Given the description of an element on the screen output the (x, y) to click on. 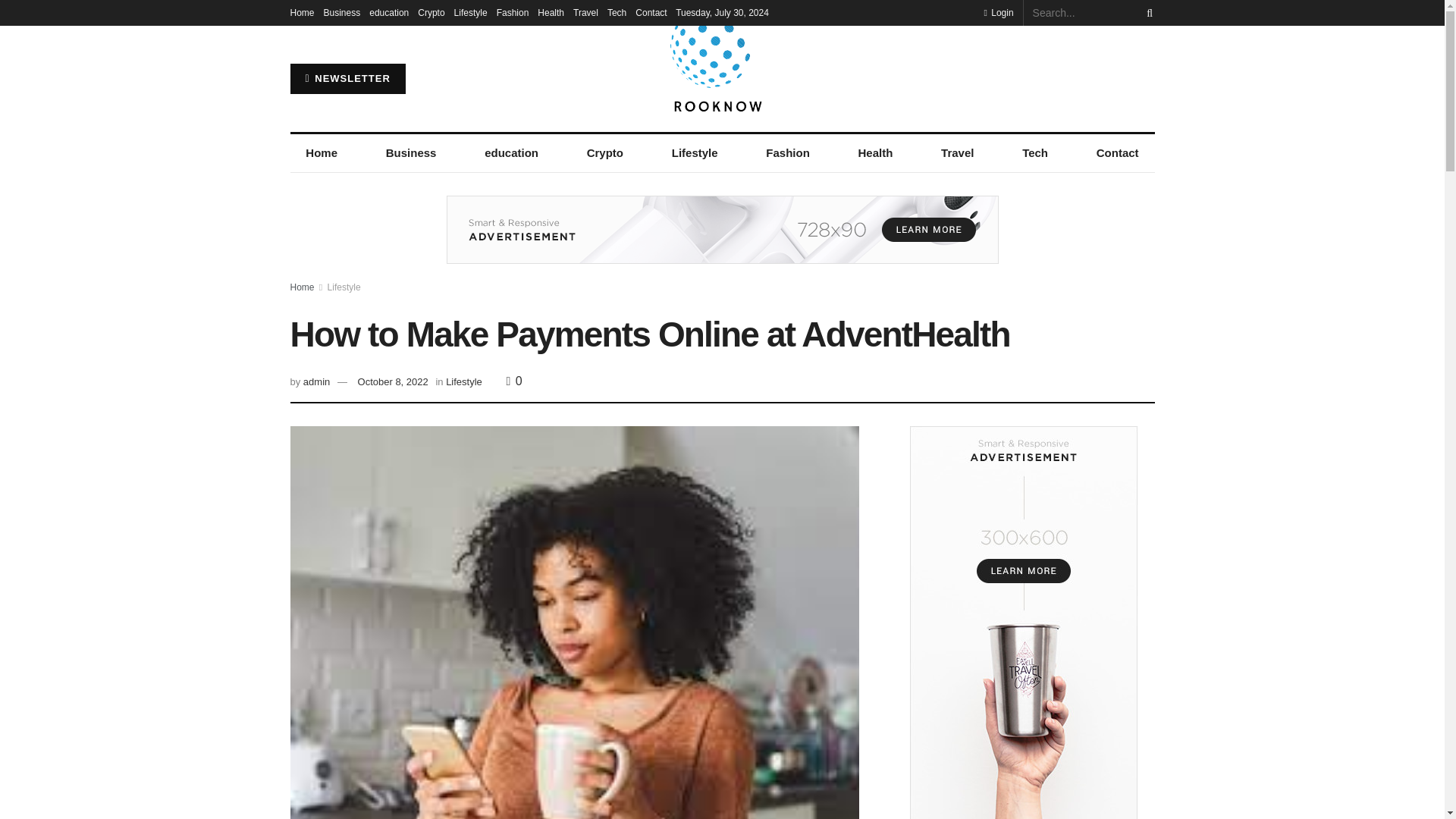
Fashion (787, 152)
Crypto (604, 152)
Travel (957, 152)
Fashion (512, 12)
Business (410, 152)
Crypto (430, 12)
Lifestyle (694, 152)
NEWSLETTER (346, 78)
Home (320, 152)
Login (998, 12)
Health (550, 12)
education (511, 152)
Contact (1117, 152)
Contact (650, 12)
Travel (585, 12)
